Given the description of an element on the screen output the (x, y) to click on. 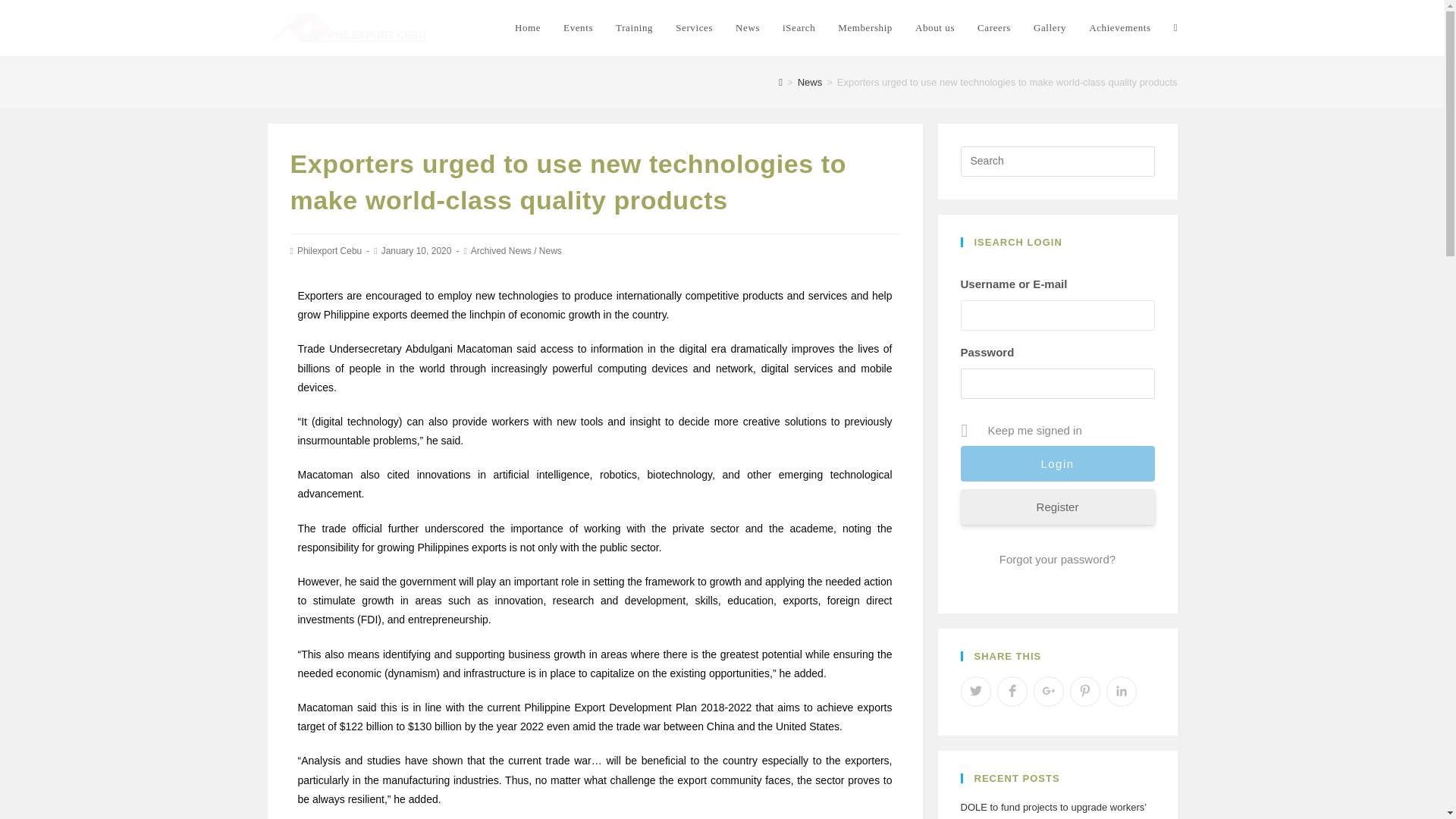
Services (693, 28)
Share on Twitter (974, 691)
Events (577, 28)
iSearch (799, 28)
Share on LinkedIn (1120, 691)
Share on Facebook (1010, 691)
Posts by Philexport Cebu (329, 250)
Login (1056, 463)
Share on Pinterest (1083, 691)
Training (633, 28)
